Given the description of an element on the screen output the (x, y) to click on. 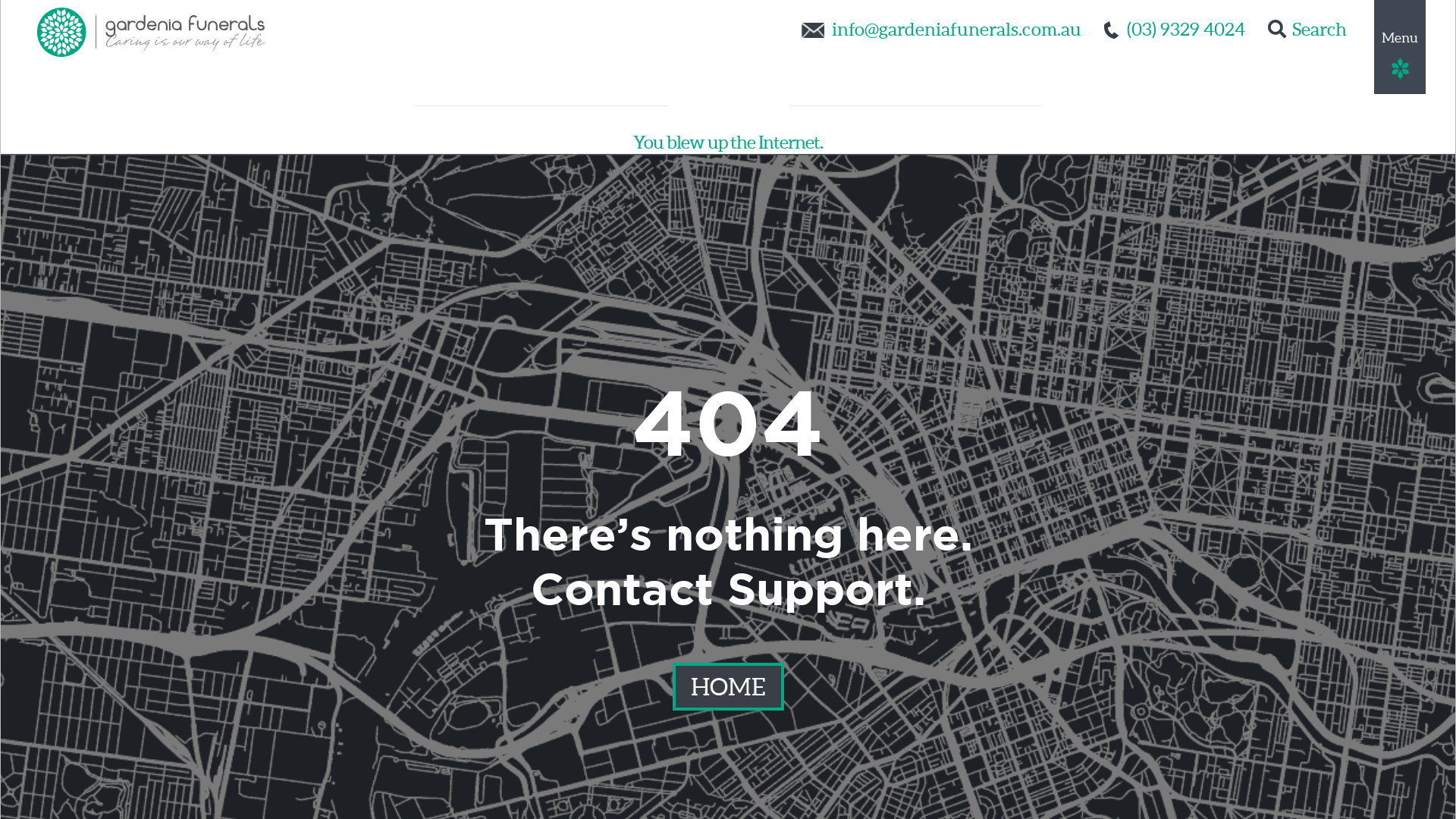
HOME Element type: text (727, 686)
Menu Element type: text (1399, 47)
info@gardeniafunerals.com.au Element type: text (956, 28)
Search Element type: text (1306, 28)
(03) 9329 4024 Element type: text (1185, 28)
